Given the description of an element on the screen output the (x, y) to click on. 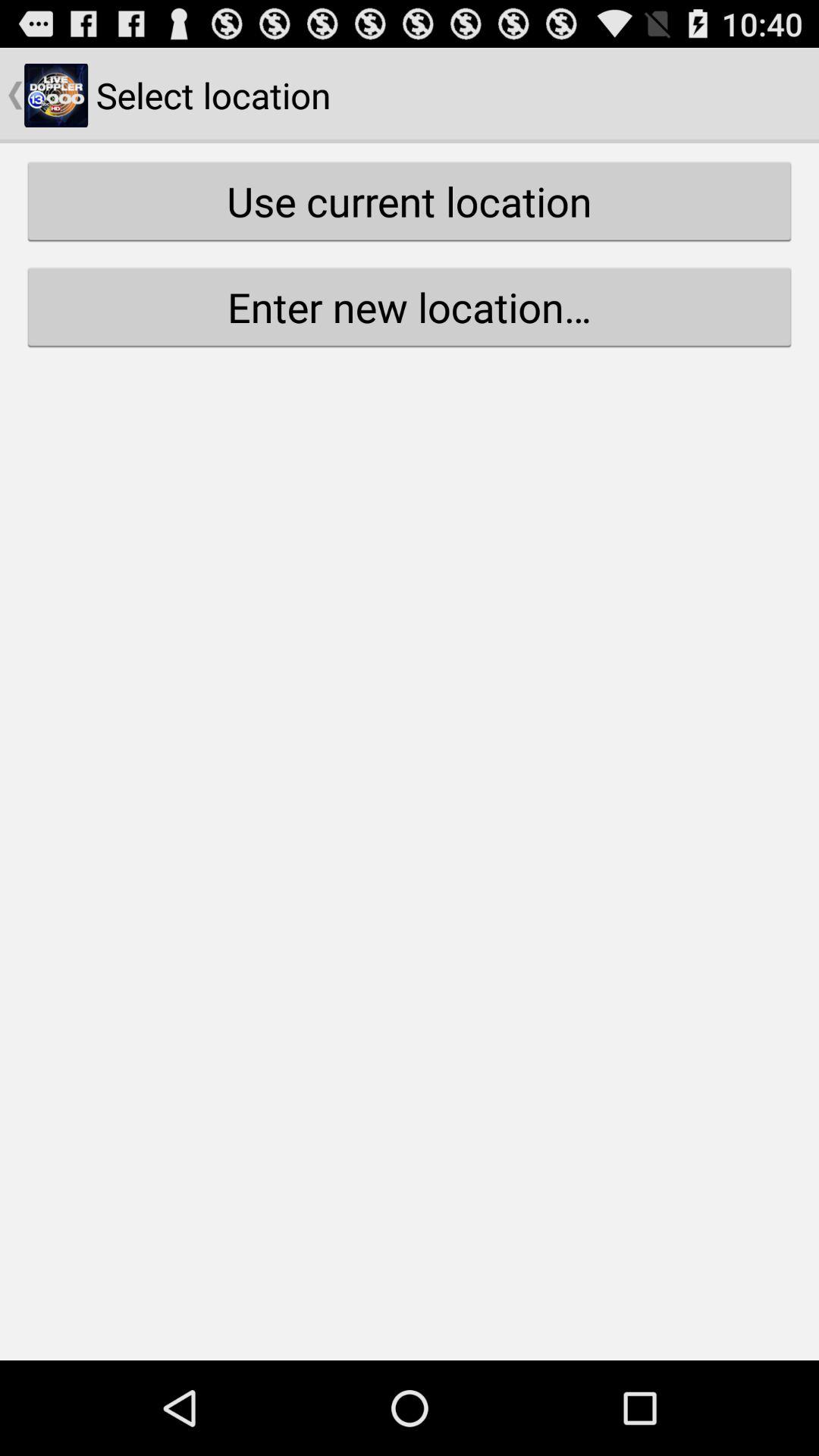
select the use current location (409, 201)
